Given the description of an element on the screen output the (x, y) to click on. 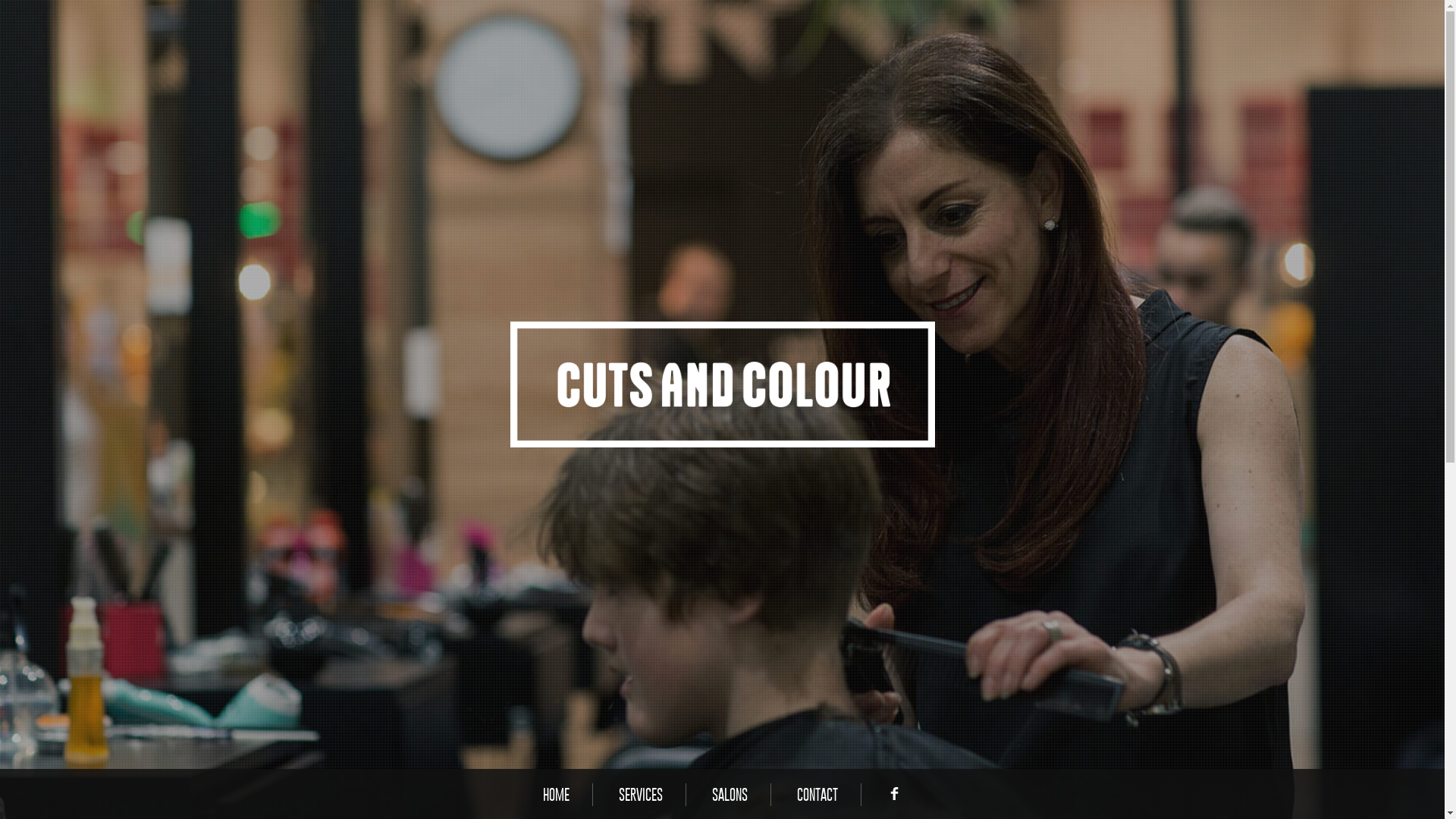
Cuts and Colours Melbourne Element type: text (721, 384)
SERVICES Element type: text (640, 794)
SALONS Element type: text (729, 794)
HOME Element type: text (556, 794)
CONTACT Element type: text (817, 794)
